Given the description of an element on the screen output the (x, y) to click on. 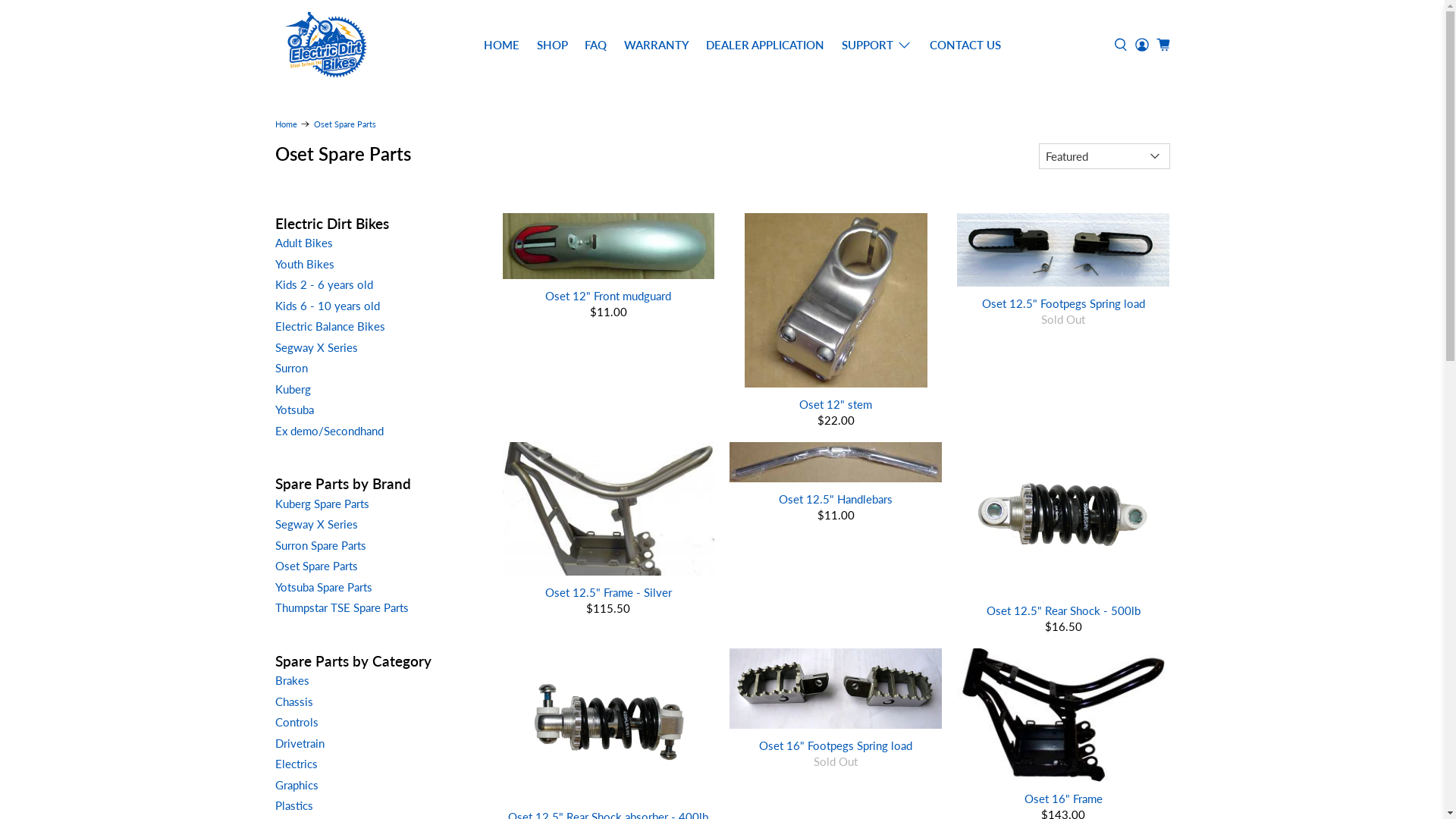
SUPPORT Element type: text (876, 45)
Oset 12.5" Rear Shock - 500lb Element type: text (1063, 609)
DEALER APPLICATION Element type: text (765, 45)
Kids 6 - 10 years old Element type: text (326, 305)
Drivetrain Element type: text (298, 742)
Chassis Element type: text (293, 701)
HOME Element type: text (501, 45)
Surron Element type: text (290, 367)
Home Element type: text (285, 123)
Yotsuba Element type: text (293, 409)
Electrics Element type: text (295, 763)
Kuberg Spare Parts Element type: text (321, 503)
Youth Bikes Element type: text (303, 263)
Plastics Element type: text (293, 805)
Oset 16" Frame Element type: text (1063, 797)
Oset Spare Parts Element type: text (315, 565)
FAQ Element type: text (595, 45)
Adult Bikes Element type: text (303, 242)
Ex demo/Secondhand Element type: text (328, 430)
Oset 12" stem Element type: text (835, 403)
Thumpstar TSE Spare Parts Element type: text (340, 607)
WARRANTY Element type: text (656, 45)
Oset 12" Front mudguard Element type: text (608, 294)
Brakes Element type: text (291, 680)
Oset 12.5" Handlebars Element type: text (835, 497)
Segway X Series Element type: text (315, 347)
Segway X Series Element type: text (315, 523)
SHOP Element type: text (551, 45)
Oset 12.5" Frame - Silver Element type: text (608, 591)
Yotsuba Spare Parts Element type: text (322, 586)
Electric Dirt Bikes Element type: hover (325, 44)
Oset 12.5" Footpegs Spring load Element type: text (1063, 302)
Graphics Element type: text (295, 784)
Controls Element type: text (295, 721)
Kuberg Element type: text (292, 388)
Oset Spare Parts Element type: text (344, 123)
CONTACT US Element type: text (965, 45)
Surron Spare Parts Element type: text (319, 545)
Kids 2 - 6 years old Element type: text (323, 284)
Oset 16" Footpegs Spring load Element type: text (835, 744)
Electric Balance Bikes Element type: text (329, 325)
